Given the description of an element on the screen output the (x, y) to click on. 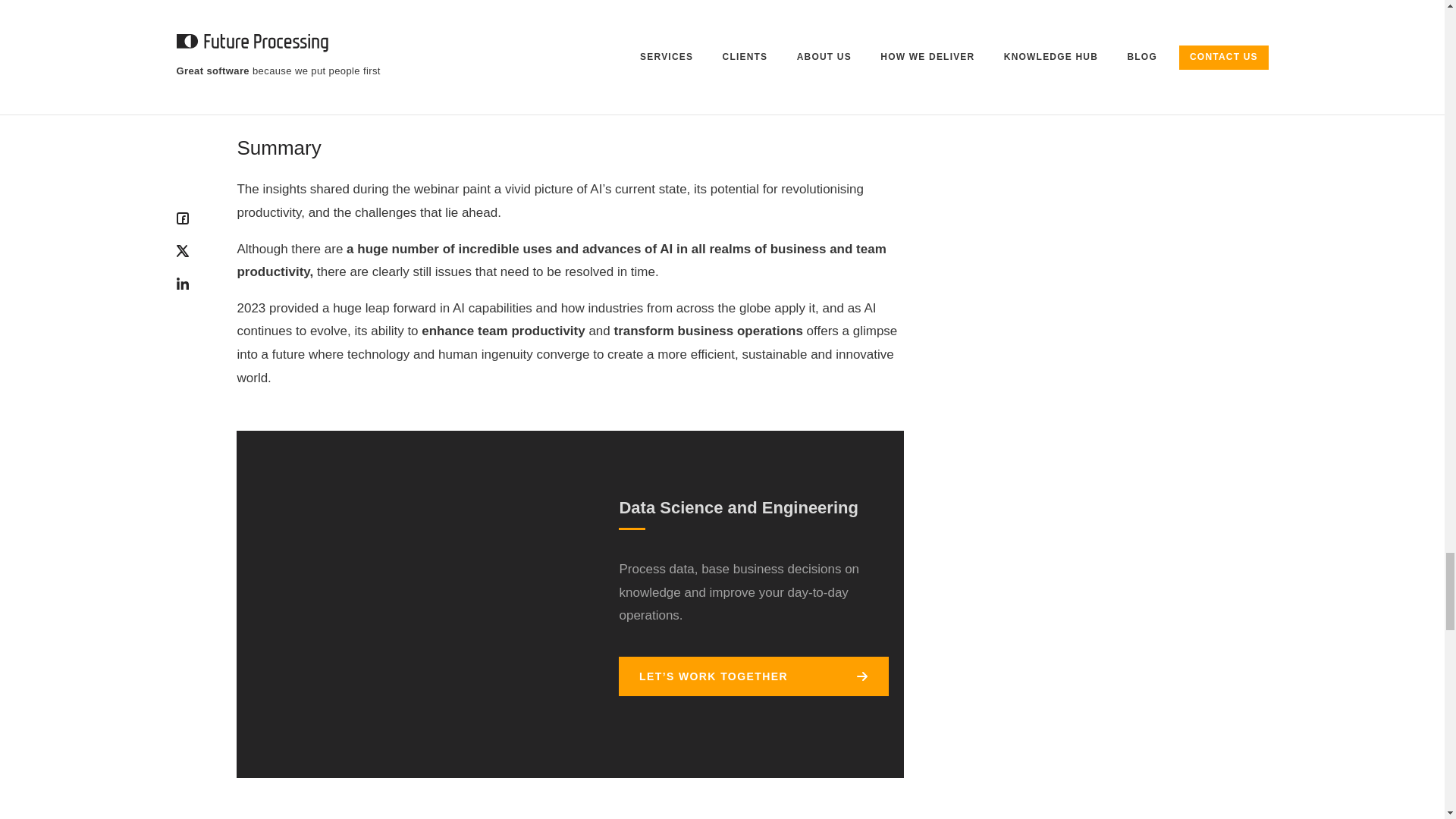
AI in team productivity: the future is now (406, 601)
